Given the description of an element on the screen output the (x, y) to click on. 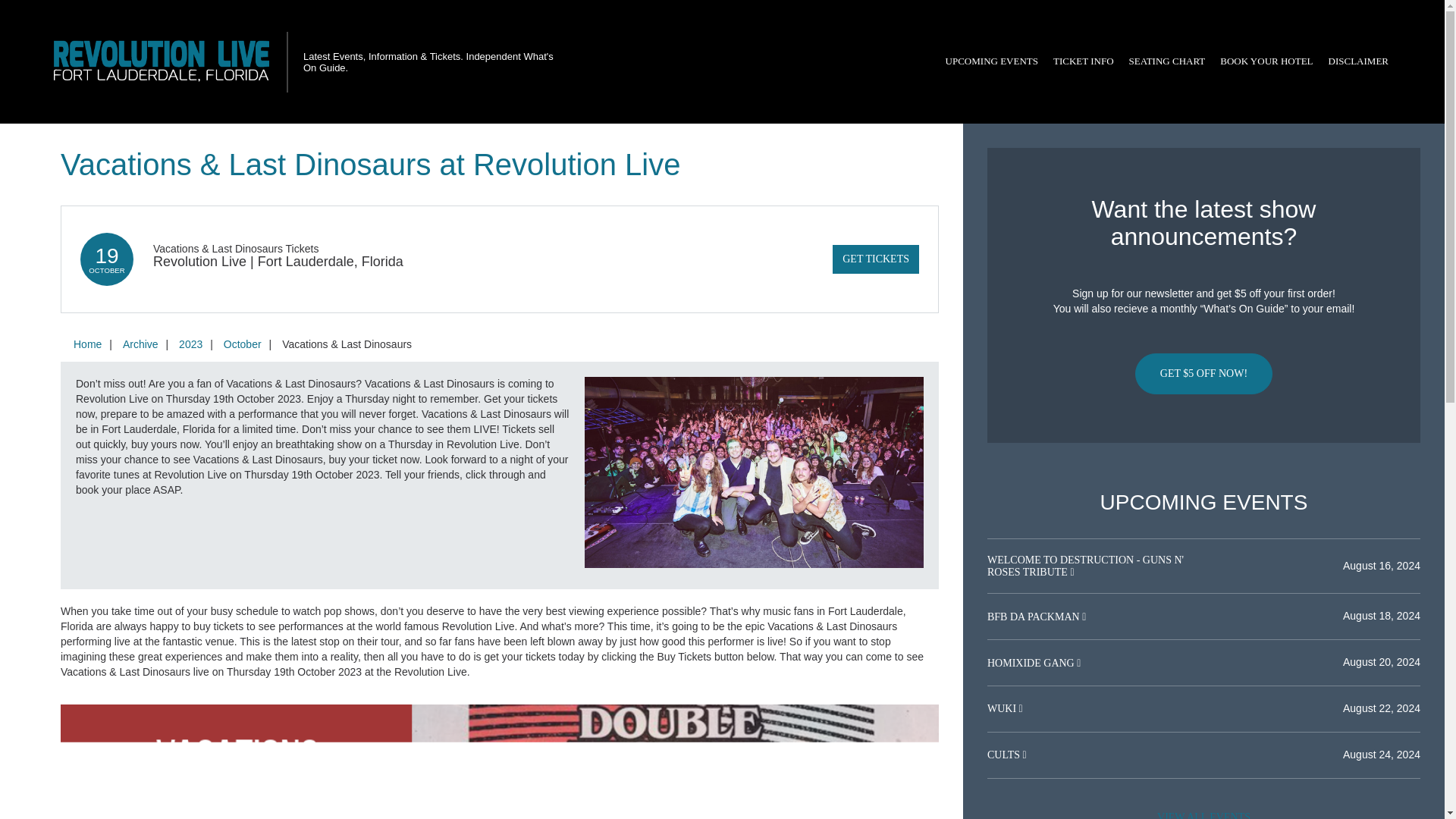
HOMIXIDE GANG (1032, 662)
SEATING CHART (1166, 61)
UPCOMING EVENTS (991, 61)
DISCLAIMER (1358, 61)
WUKI (1003, 708)
TICKET INFO (1083, 61)
2023 (190, 344)
October (242, 344)
BOOK YOUR HOTEL (1266, 61)
Home (87, 344)
